Given the description of an element on the screen output the (x, y) to click on. 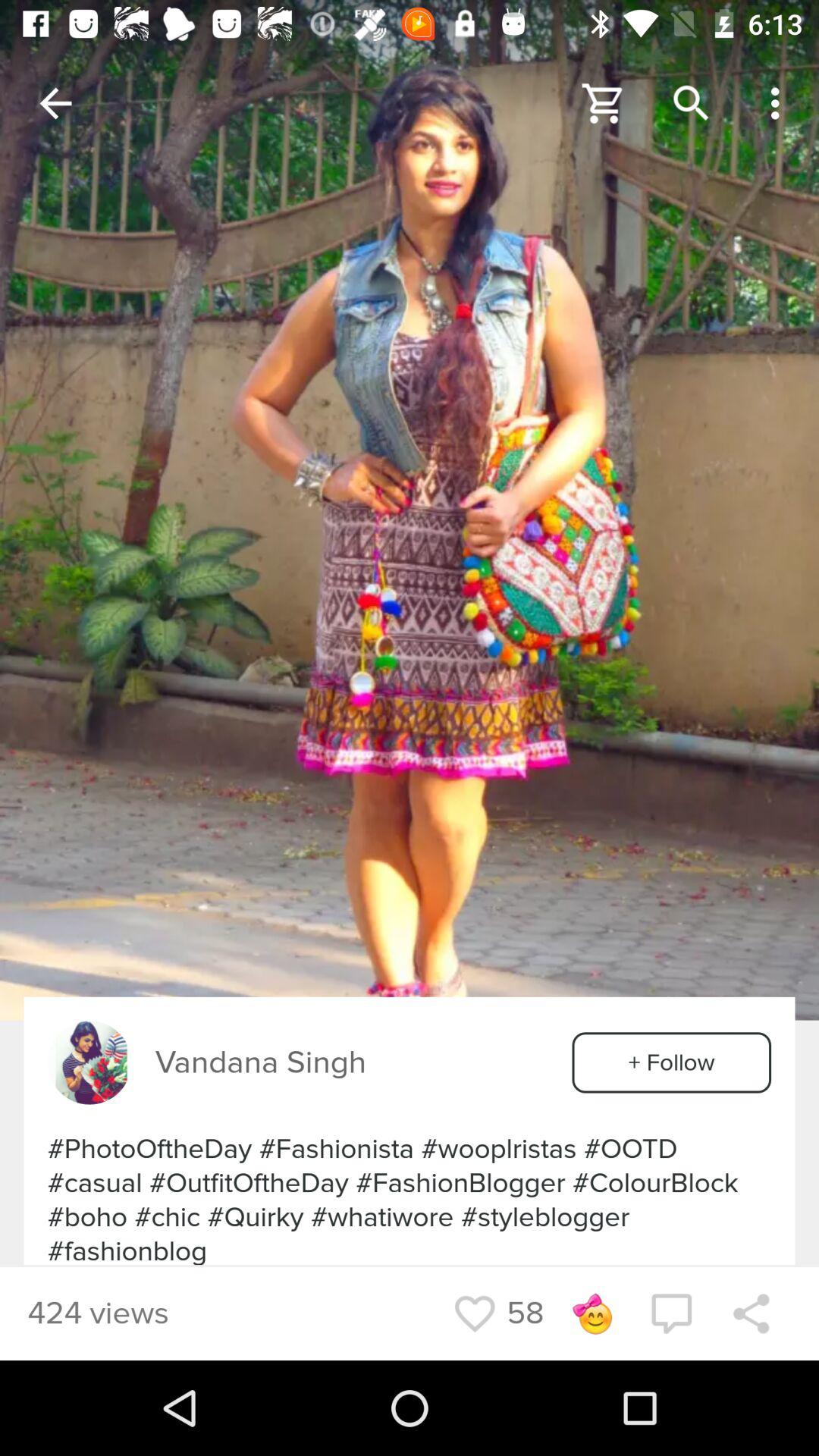
favorite (474, 1313)
